Given the description of an element on the screen output the (x, y) to click on. 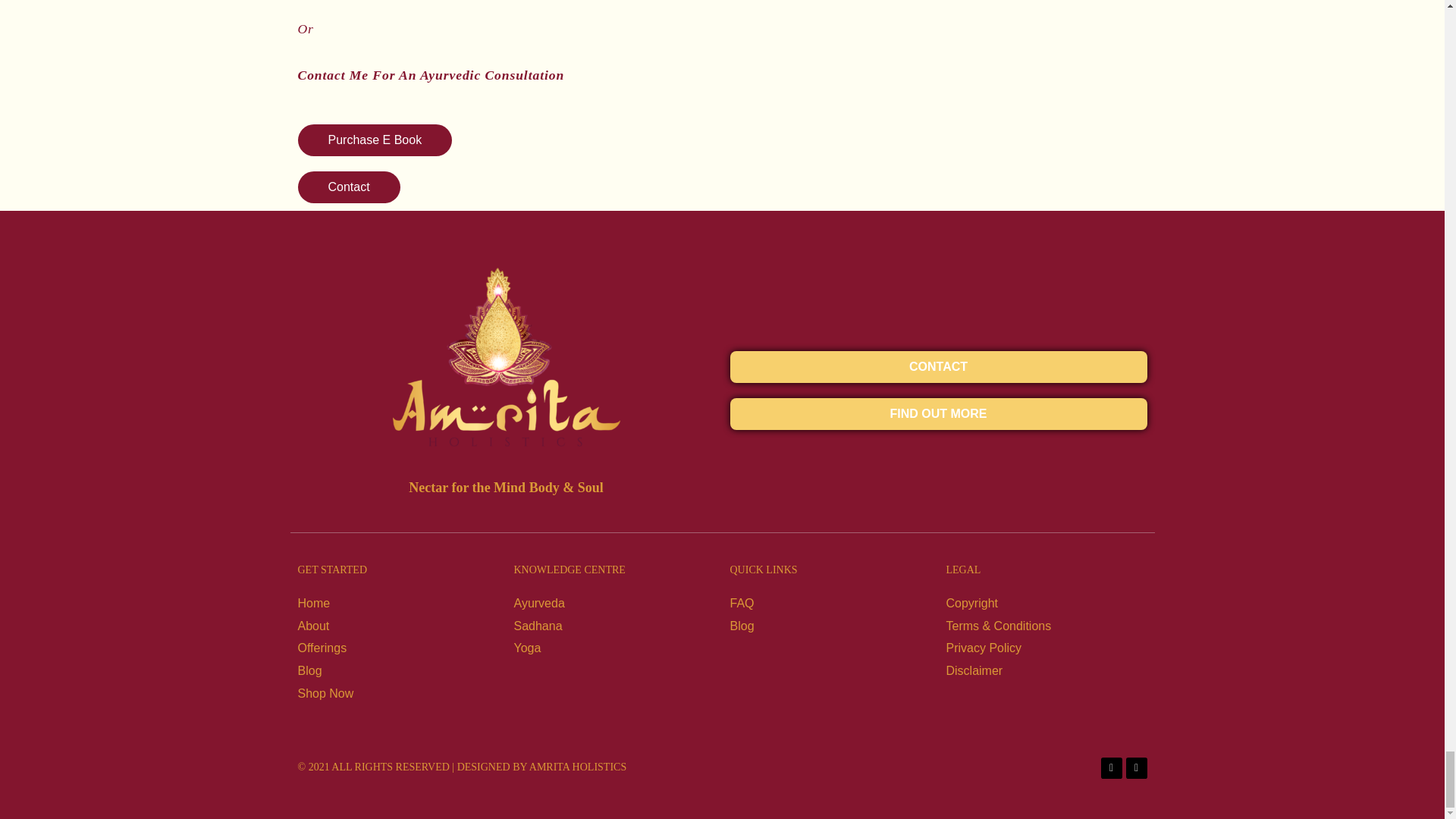
Disclaimer (1046, 671)
Ayurveda (613, 603)
CONTACT (938, 367)
Google-plus-g (1136, 767)
Contact (347, 187)
FIND OUT MORE (938, 413)
Offerings (397, 648)
Privacy Policy (1046, 648)
Yoga (613, 648)
Sadhana (613, 626)
